Given the description of an element on the screen output the (x, y) to click on. 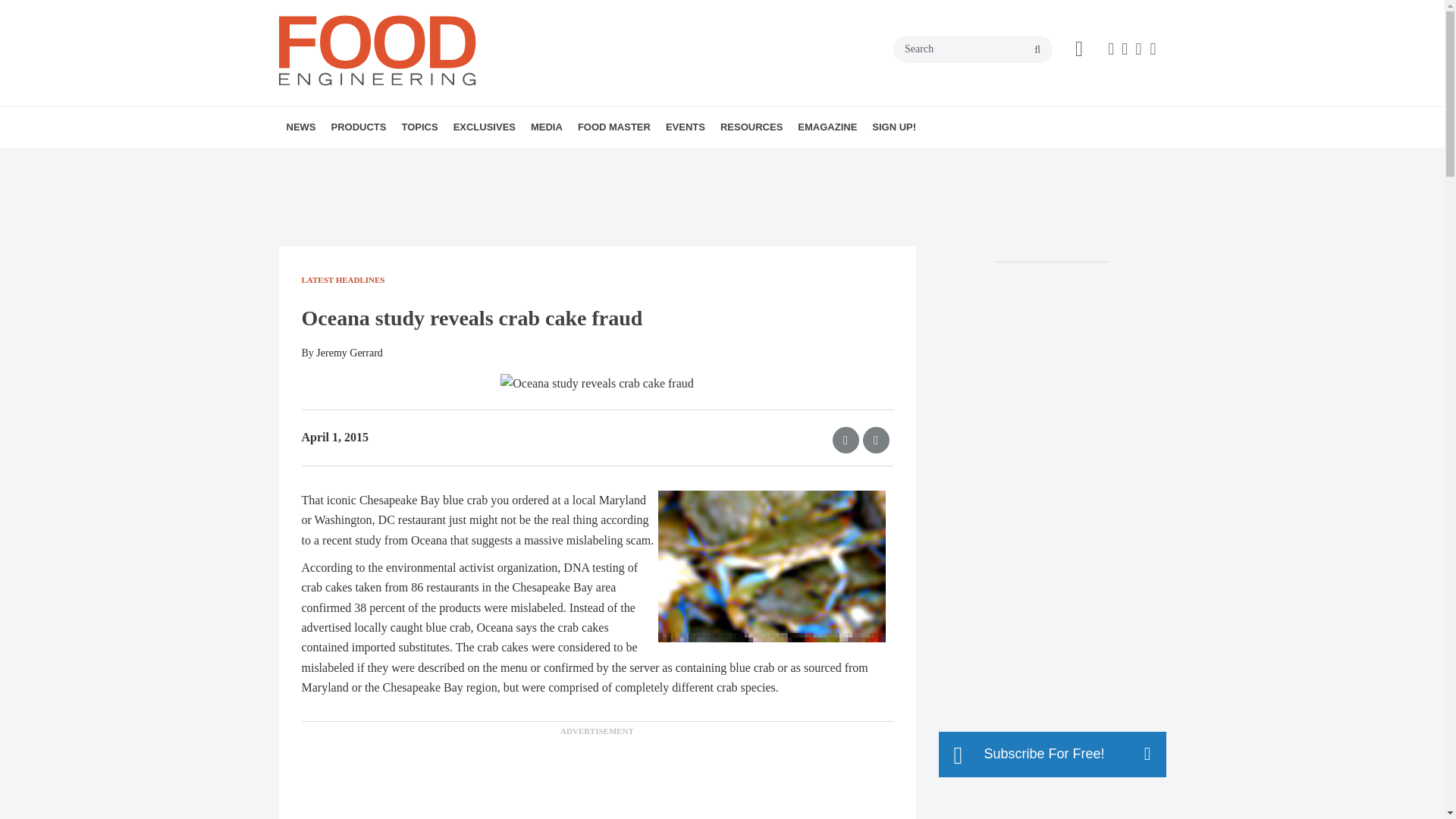
Search (972, 49)
EXCLUSIVES (483, 127)
PRODUCTS (358, 127)
TOPICS (419, 127)
LATEST HEADLINES (373, 160)
search (1037, 50)
PLANT CONSTRUCTION SURVEY (539, 160)
OEE (522, 160)
MAINTENANCE STRATEGIES (519, 160)
Search (972, 49)
